Given the description of an element on the screen output the (x, y) to click on. 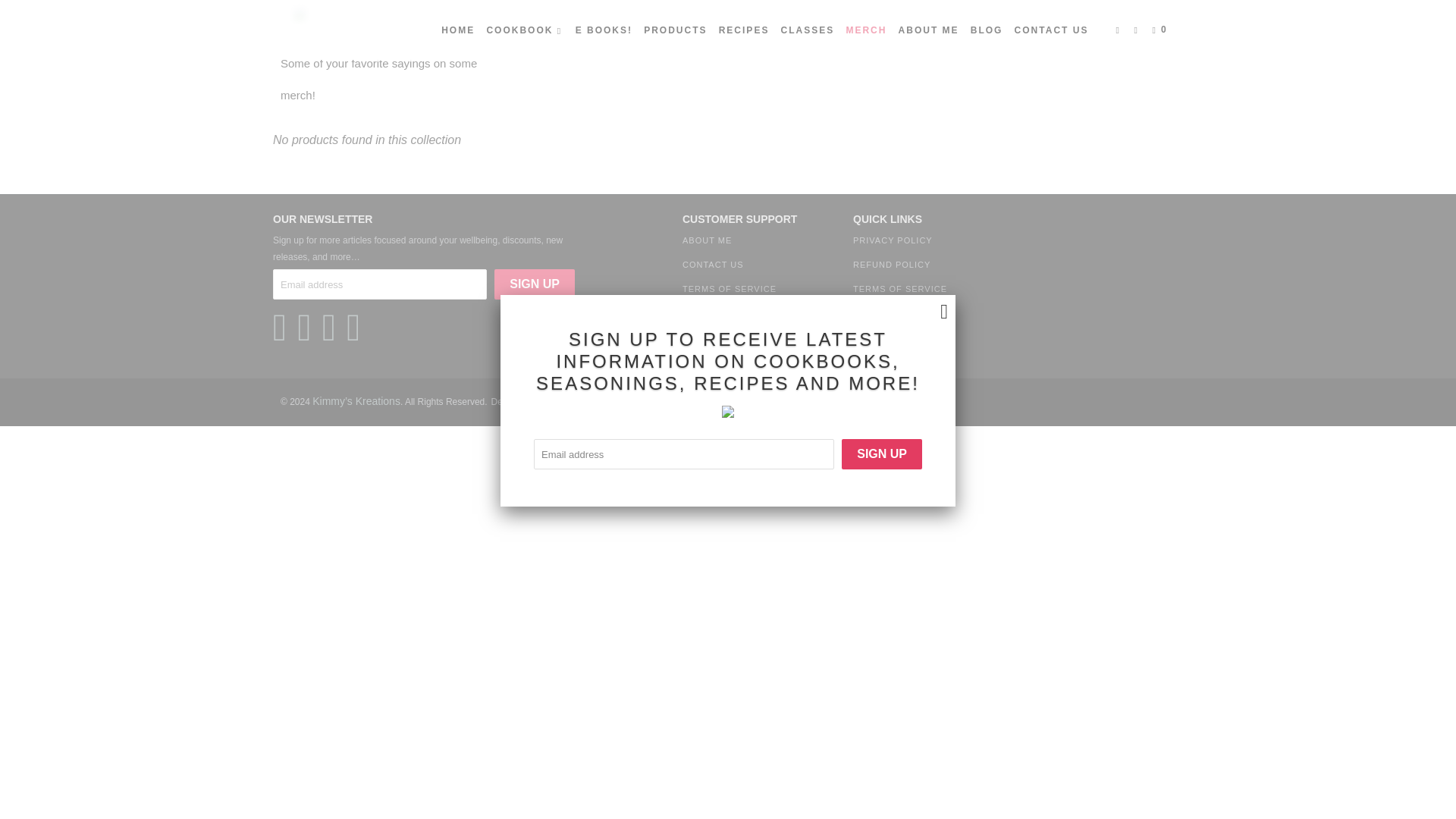
BLOG (987, 30)
COOKBOOK (524, 30)
CONTACT US (1051, 30)
Sign Up (535, 284)
CLASSES (807, 30)
MERCH (866, 30)
Home (296, 31)
0 (1161, 30)
HOME (457, 30)
Merch! (343, 31)
Sign Up (535, 284)
E BOOKS! (603, 30)
RECIPES (744, 30)
PRODUCTS (675, 30)
Merch! (343, 31)
